Given the description of an element on the screen output the (x, y) to click on. 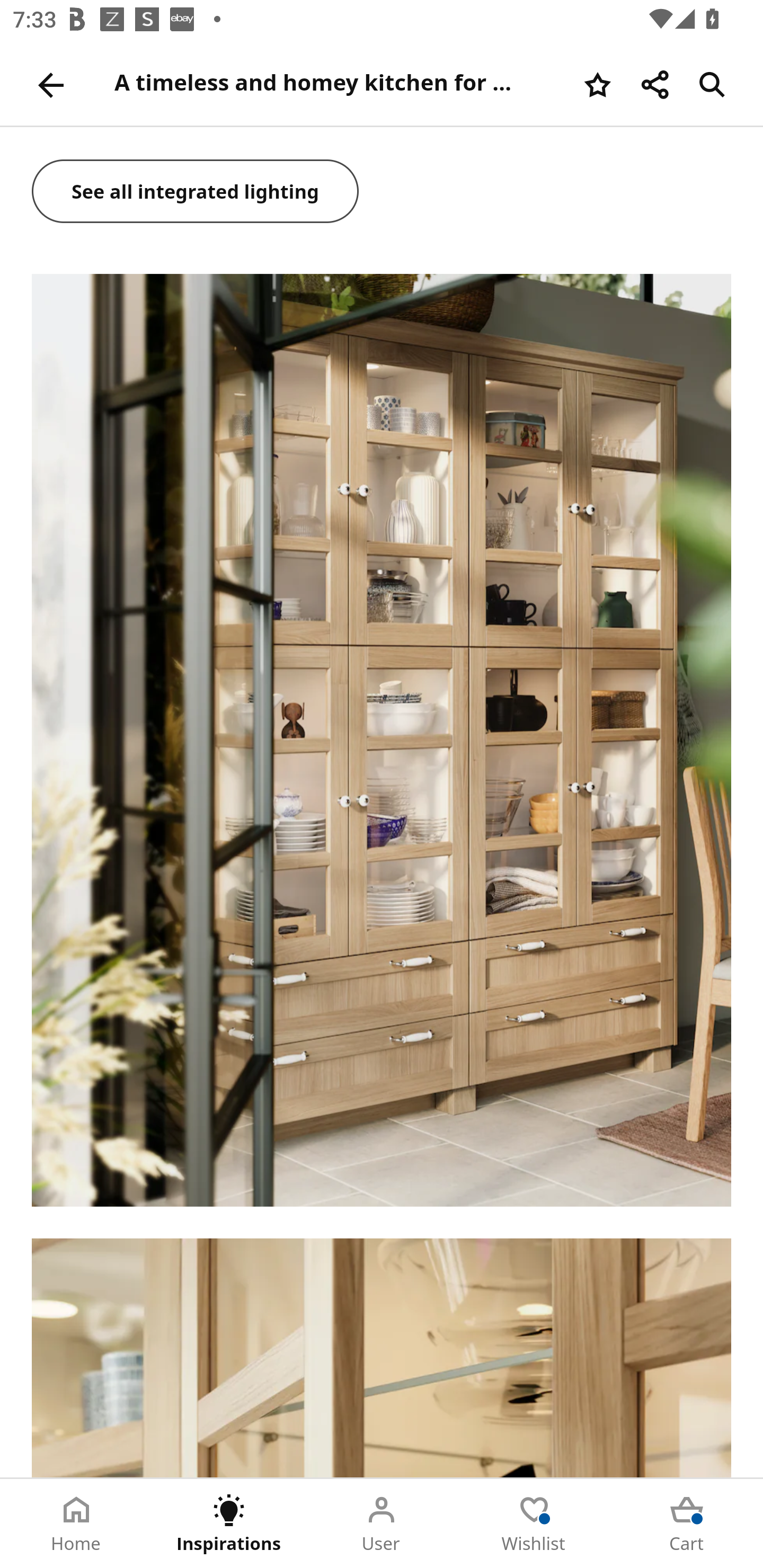
See all integrated lighting (195, 192)
Home
Tab 1 of 5 (76, 1522)
Inspirations
Tab 2 of 5 (228, 1522)
User
Tab 3 of 5 (381, 1522)
Wishlist
Tab 4 of 5 (533, 1522)
Cart
Tab 5 of 5 (686, 1522)
